Given the description of an element on the screen output the (x, y) to click on. 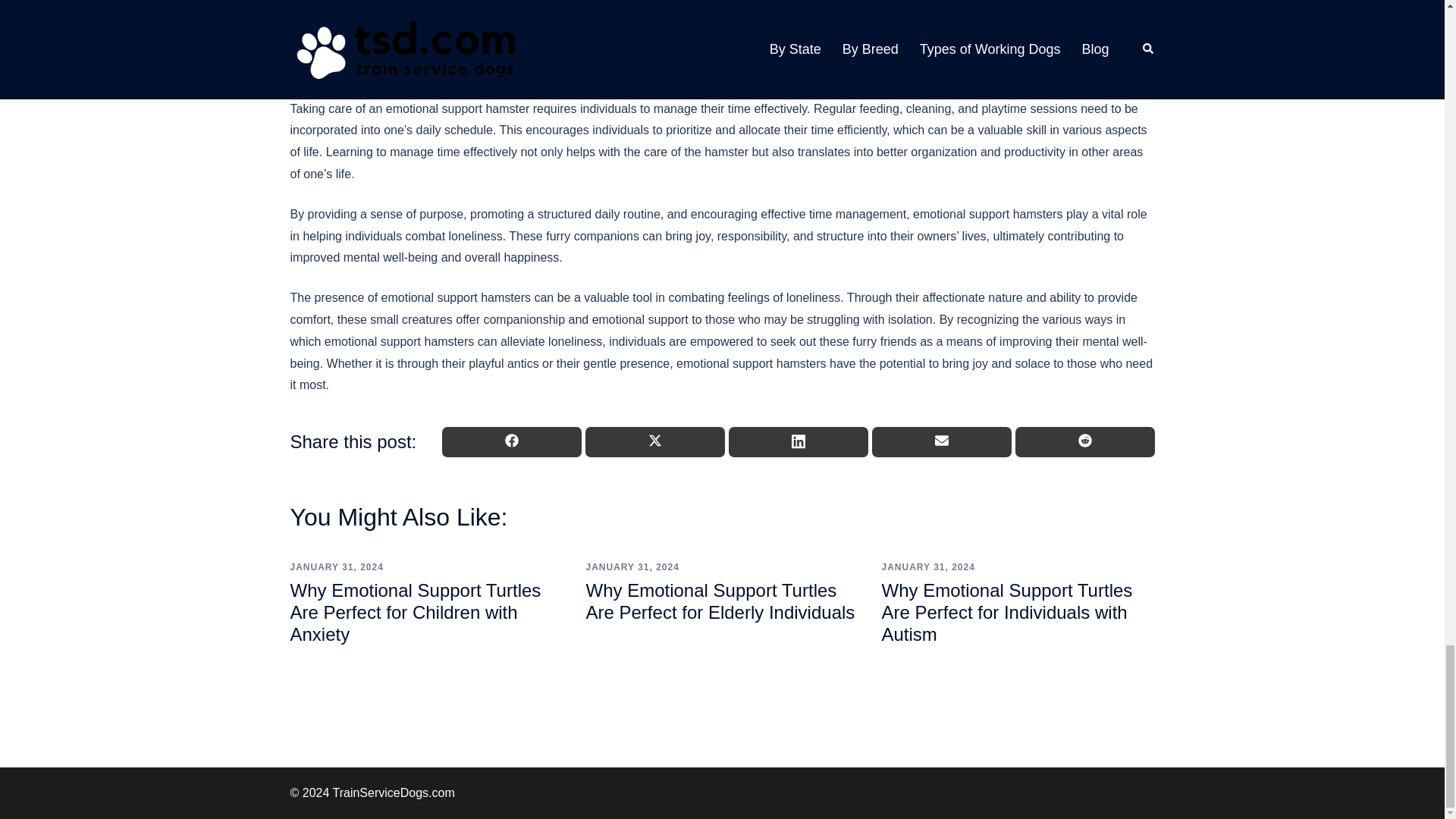
JANUARY 31, 2024 (631, 566)
JANUARY 31, 2024 (335, 566)
JANUARY 31, 2024 (927, 566)
